Given the description of an element on the screen output the (x, y) to click on. 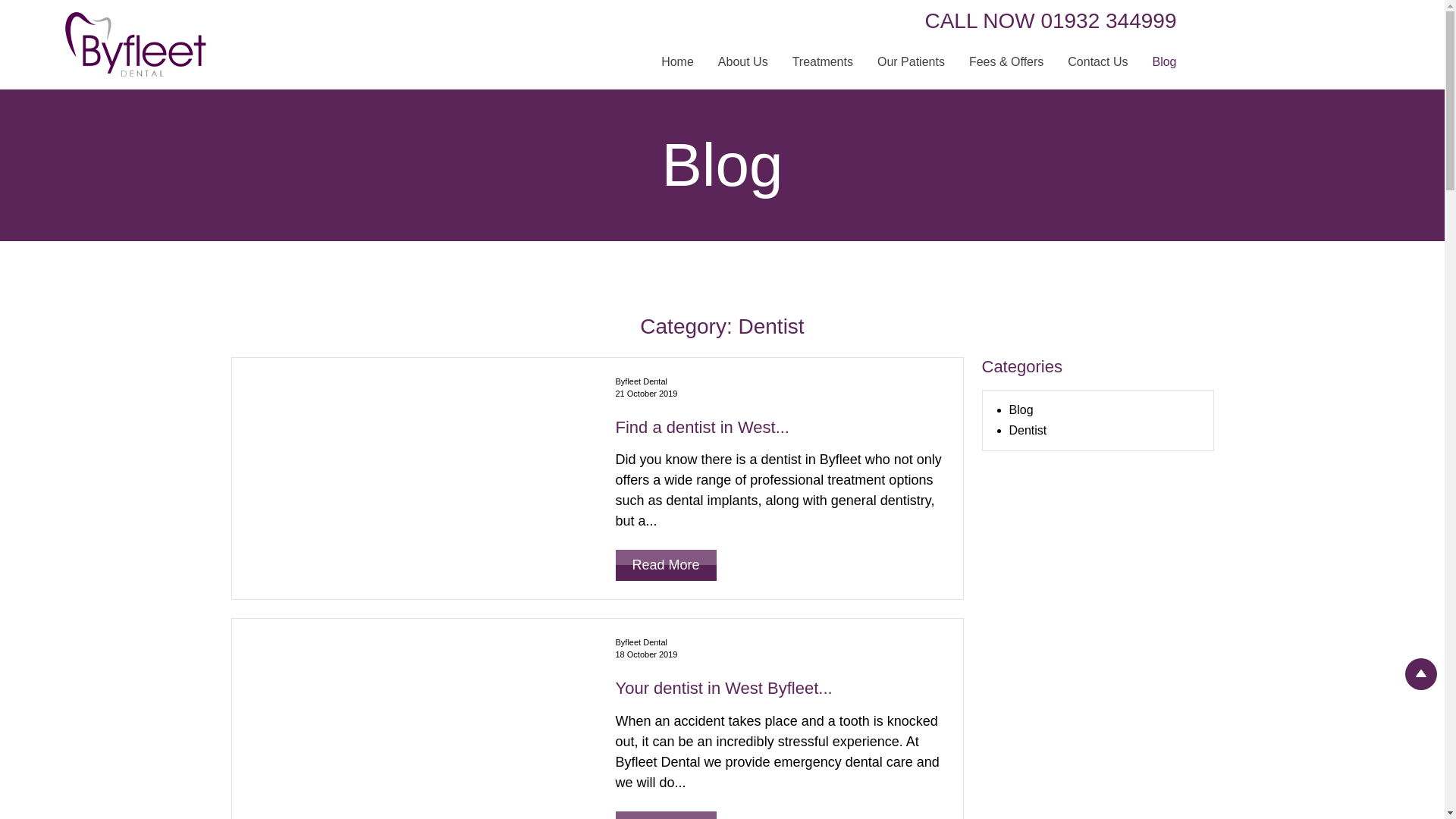
Home (677, 62)
Our Patients (910, 62)
01932 344999 (1108, 20)
Click to Top (1421, 674)
Contact Us (1097, 62)
Home (677, 62)
Read More (665, 564)
About Us (743, 62)
Treatments (822, 62)
About Us (743, 62)
